Given the description of an element on the screen output the (x, y) to click on. 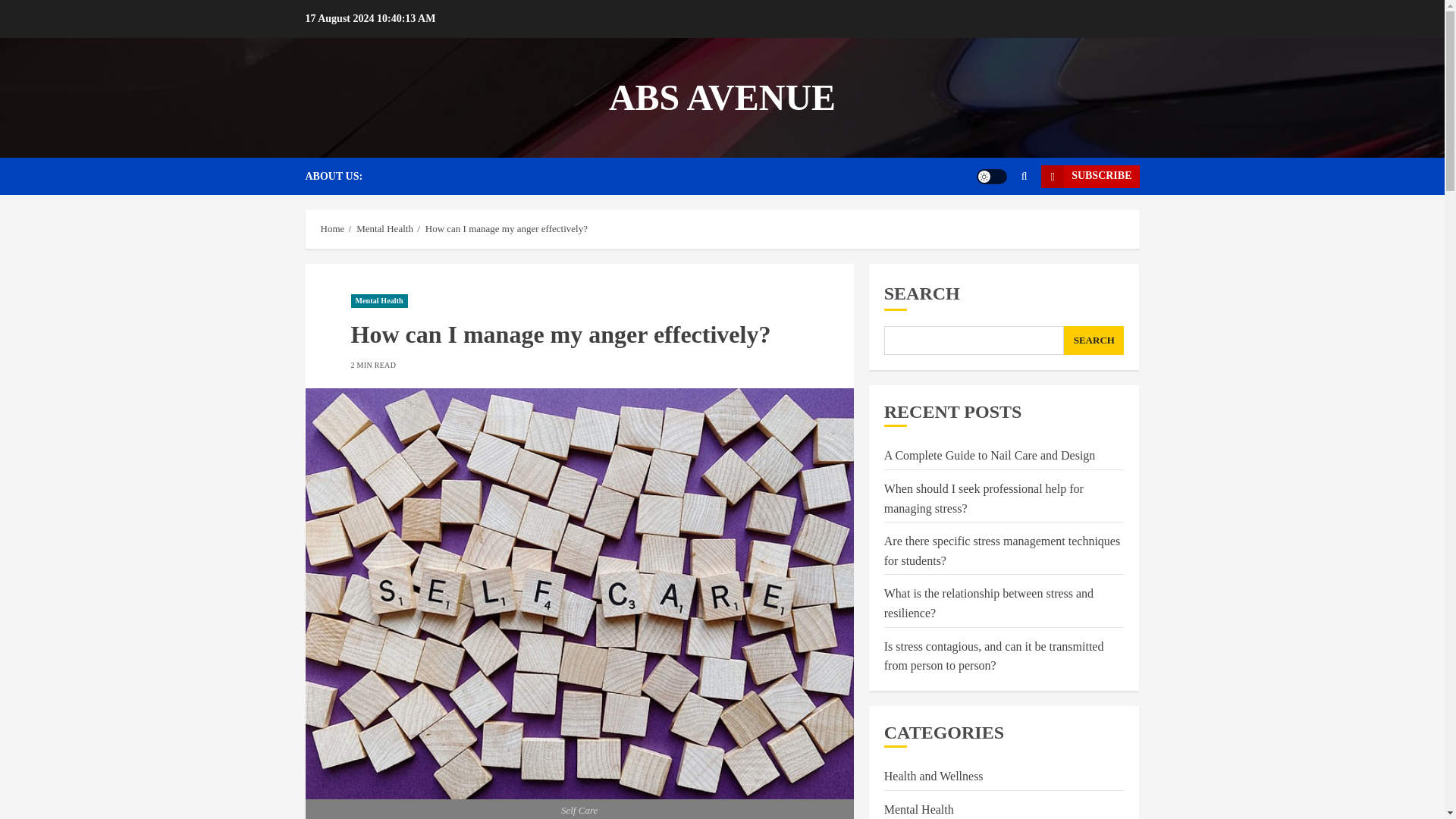
What is the relationship between stress and resilience? (988, 603)
Mental Health (918, 808)
A Complete Guide to Nail Care and Design (989, 455)
Home (331, 228)
Health and Wellness (933, 775)
SUBSCRIBE (1089, 176)
Mental Health (378, 300)
SEARCH (1094, 339)
